Given the description of an element on the screen output the (x, y) to click on. 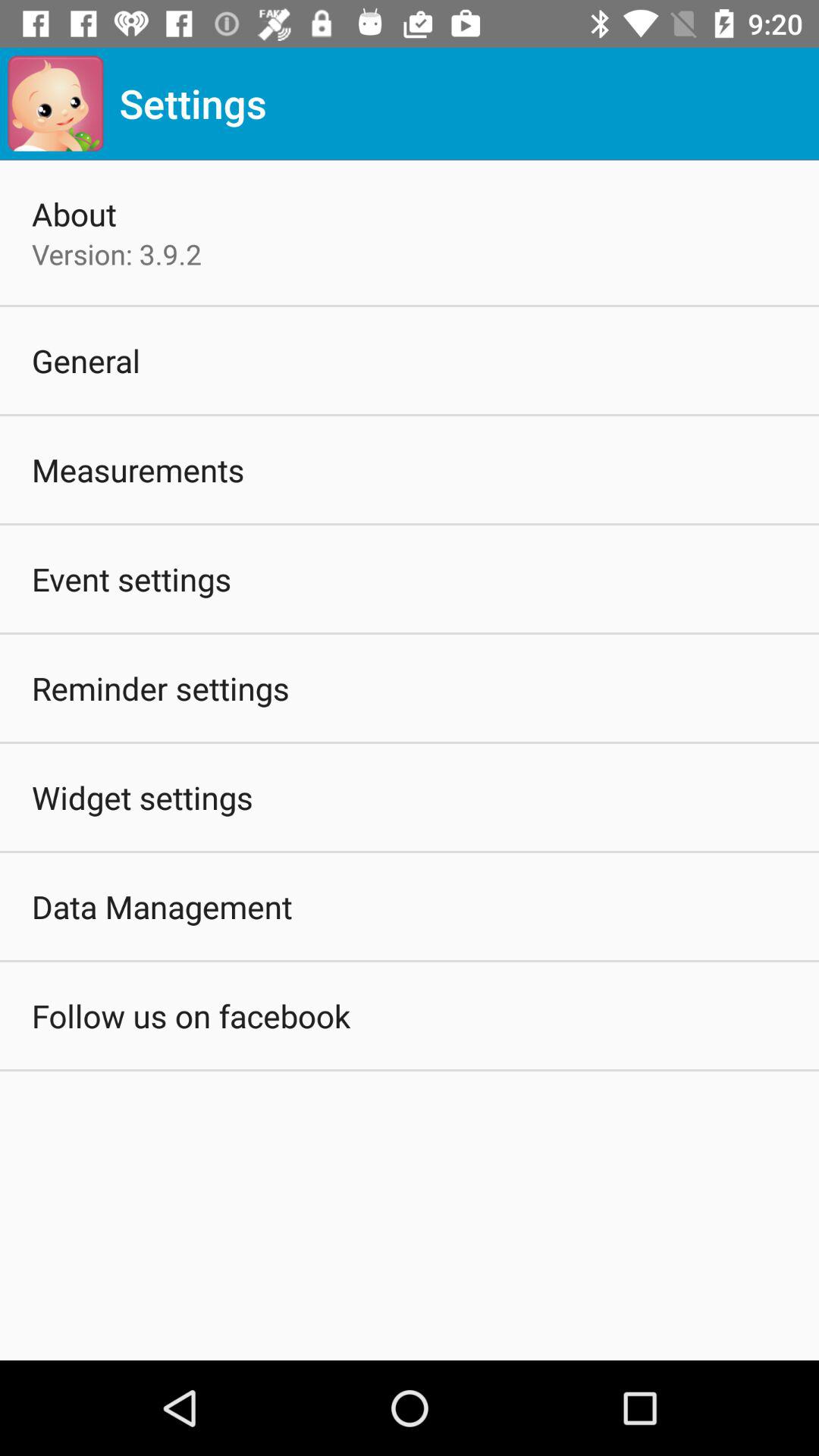
flip to about app (73, 213)
